Given the description of an element on the screen output the (x, y) to click on. 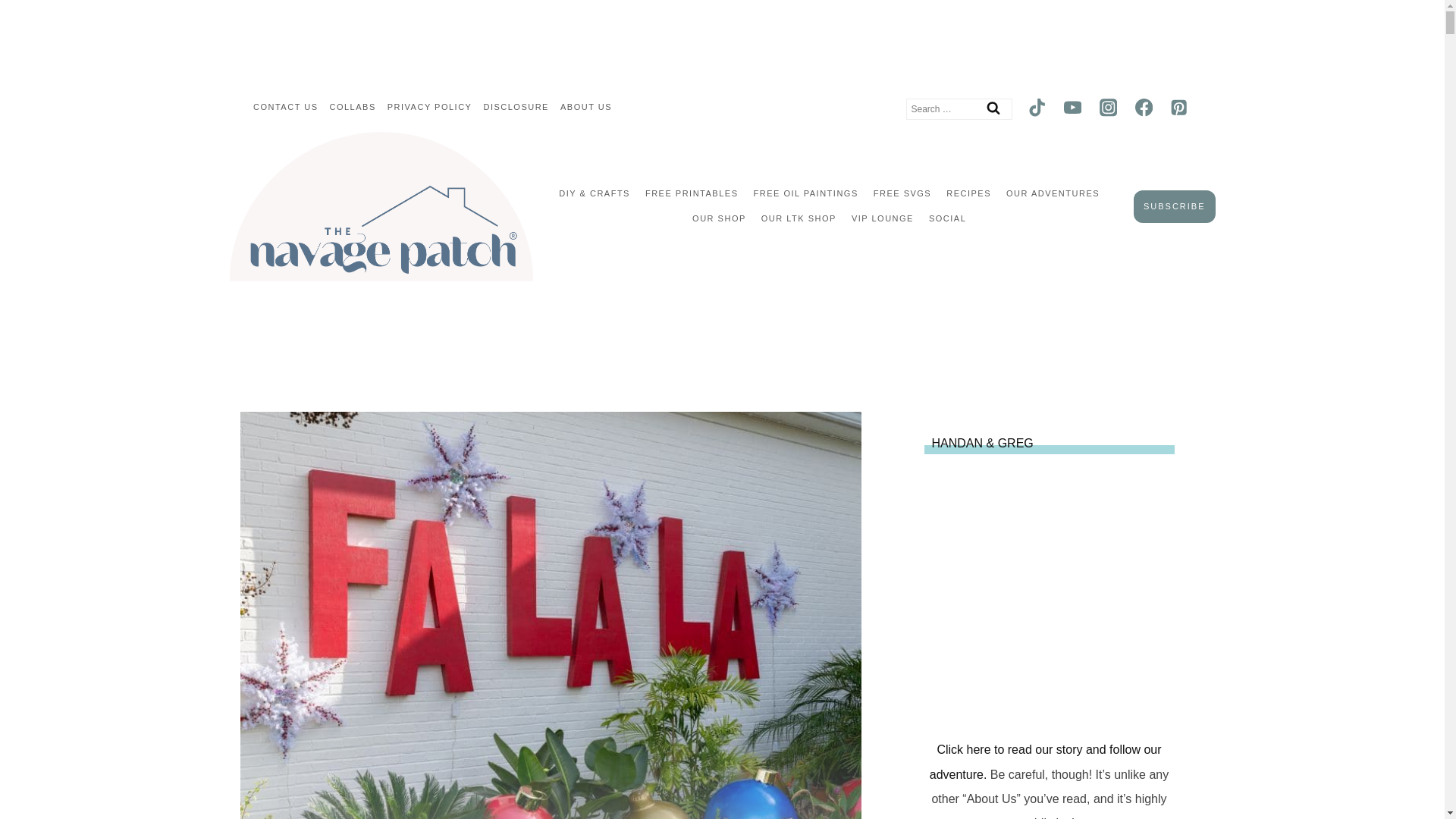
COLLABS (352, 107)
SOCIAL (947, 218)
DISCLOSURE (515, 107)
VIP LOUNGE (882, 218)
Search (992, 107)
ABOUT US (585, 107)
SUBSCRIBE (1174, 206)
OUR ADVENTURES (1052, 194)
CONTACT US (285, 107)
PRIVACY POLICY (429, 107)
RECIPES (968, 194)
FREE OIL PAINTINGS (804, 194)
OUR SHOP (719, 218)
FREE PRINTABLES (691, 194)
OUR LTK SHOP (799, 218)
